Given the description of an element on the screen output the (x, y) to click on. 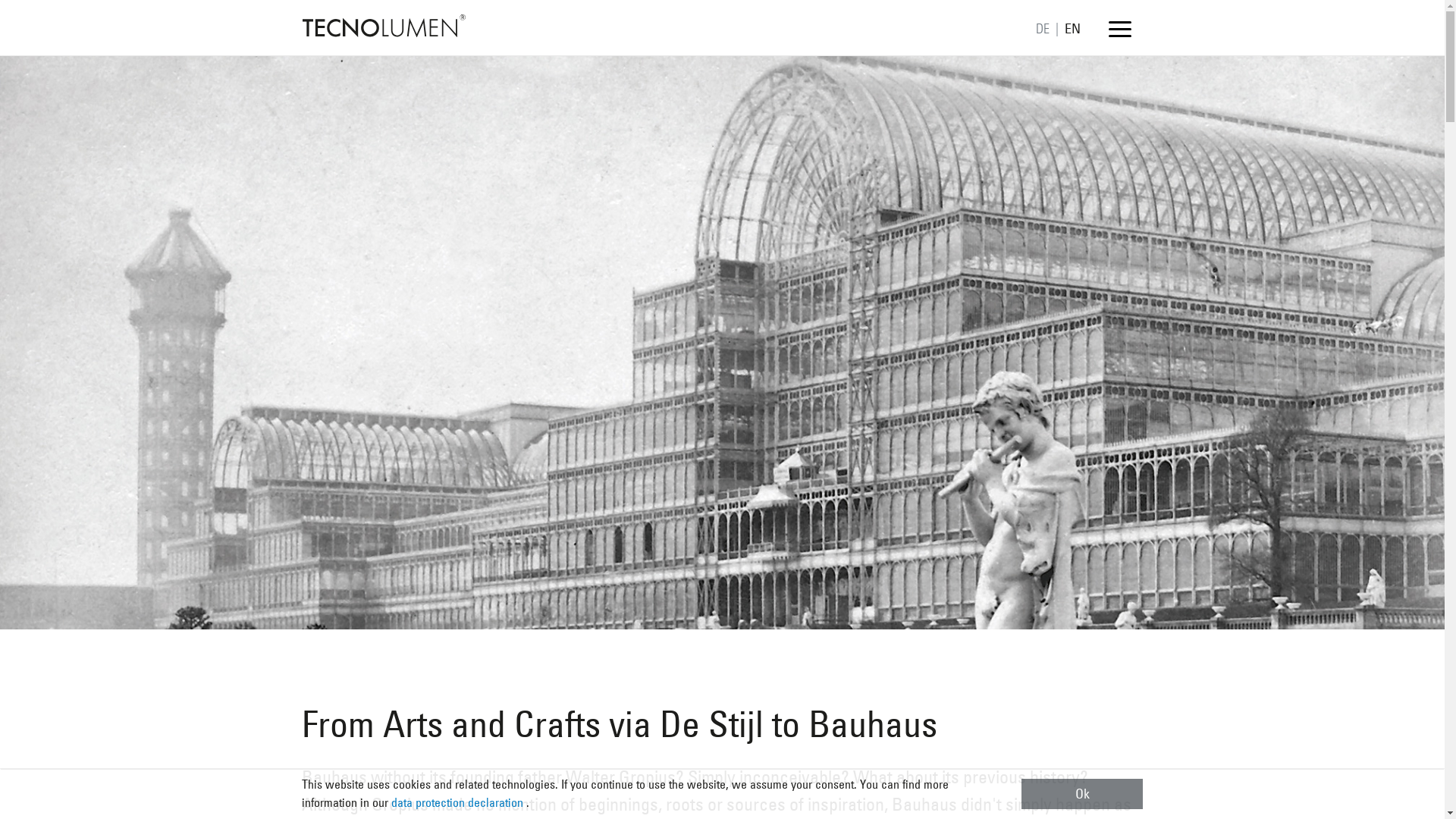
data protection declaration (458, 801)
Ok (1082, 793)
